Given the description of an element on the screen output the (x, y) to click on. 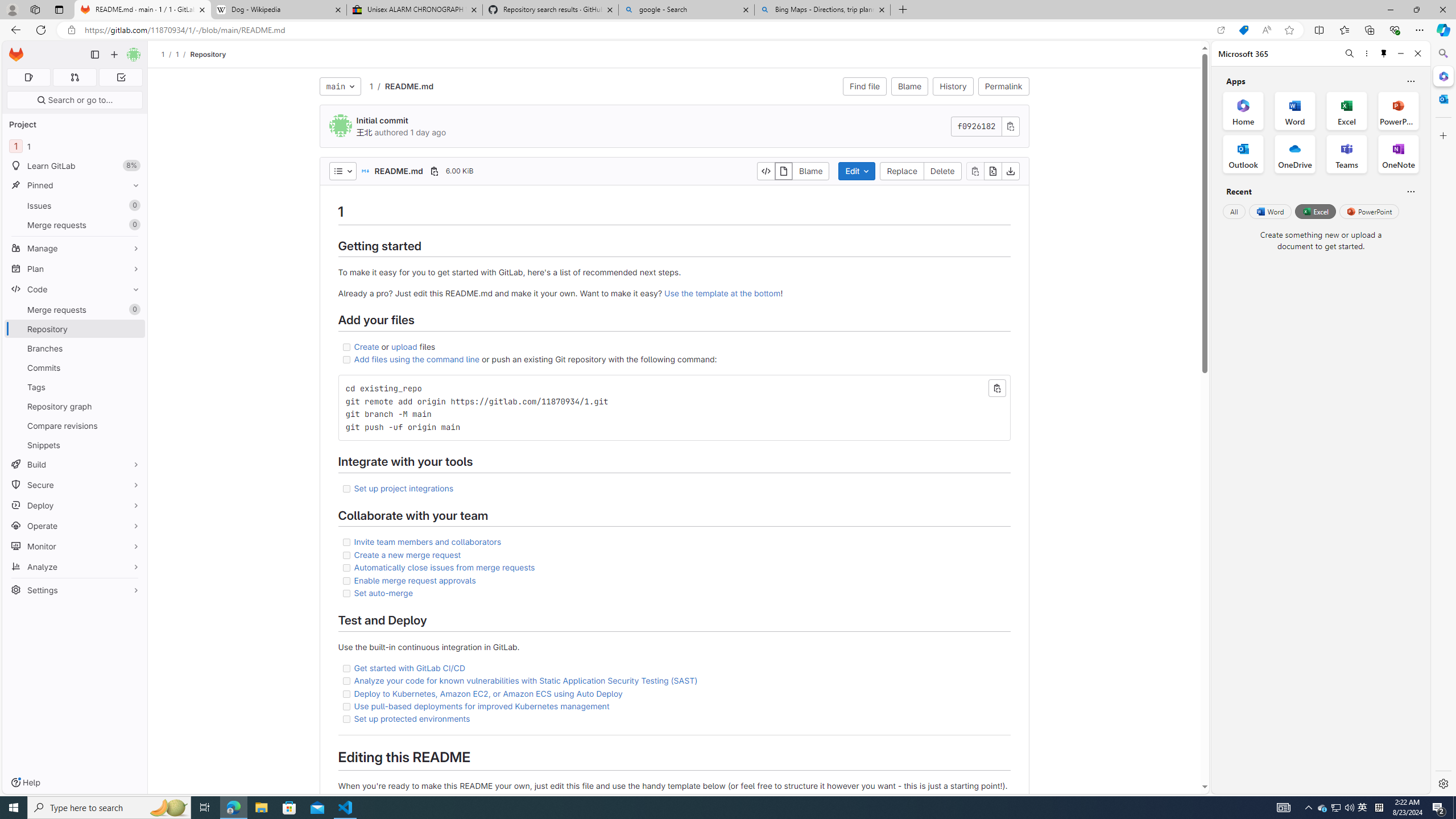
Tags (74, 386)
Operate (74, 525)
Pin Commits (132, 367)
Display source (766, 171)
Blame (909, 85)
Class: s16 gl-icon gl-button-icon  (1010, 126)
Repository (207, 53)
Pin Repository (132, 328)
PowerPoint Office App (1398, 110)
